Given the description of an element on the screen output the (x, y) to click on. 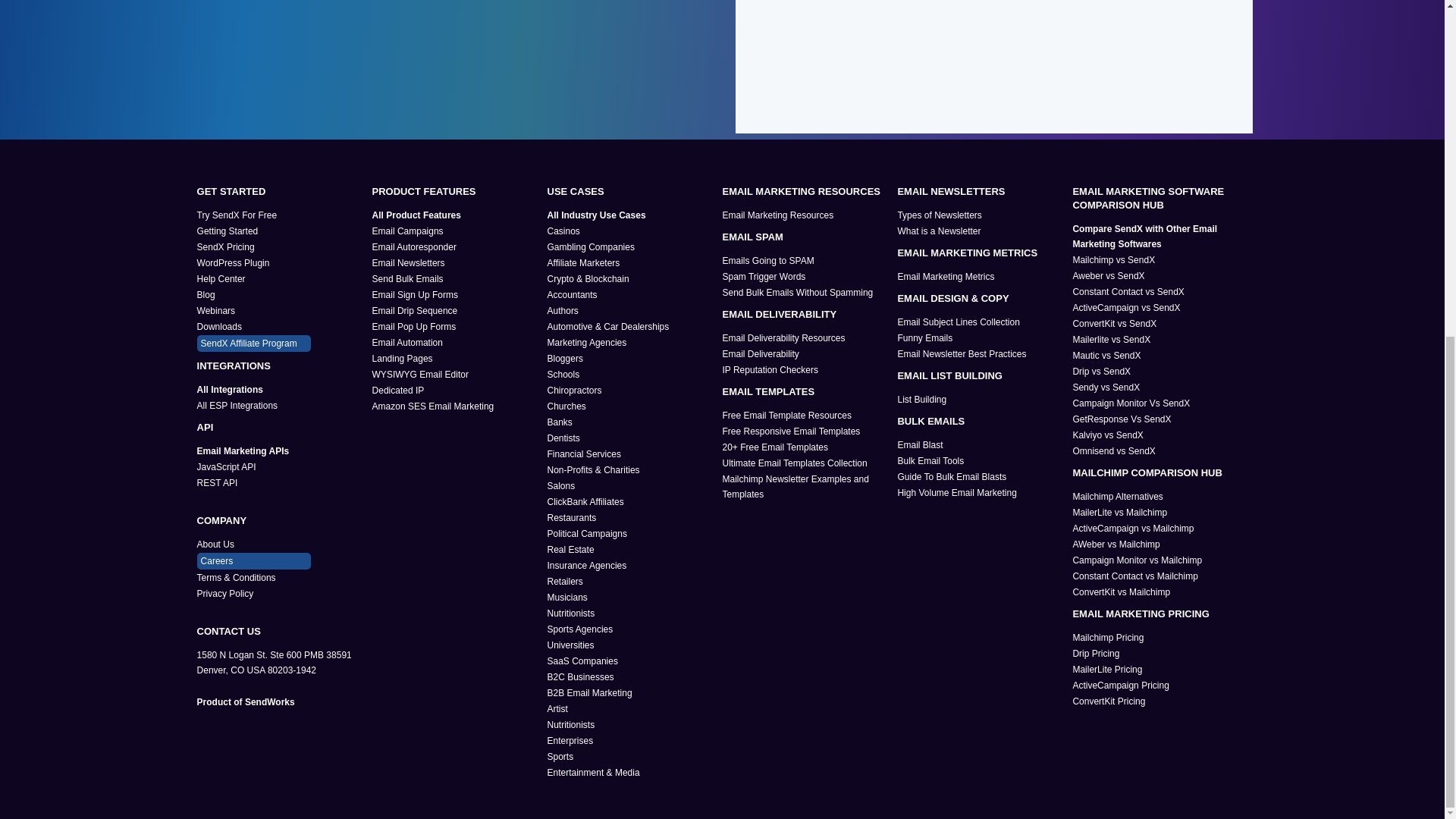
PRODUCT FEATURES (456, 192)
Help Center (279, 278)
INTEGRATIONS (281, 366)
JavaScript API (279, 467)
Blog (279, 294)
All ESP Integrations (279, 405)
Webinars (279, 310)
All Integrations (279, 389)
SendX Affiliate Program (253, 343)
Try SendX For Free (279, 215)
